Given the description of an element on the screen output the (x, y) to click on. 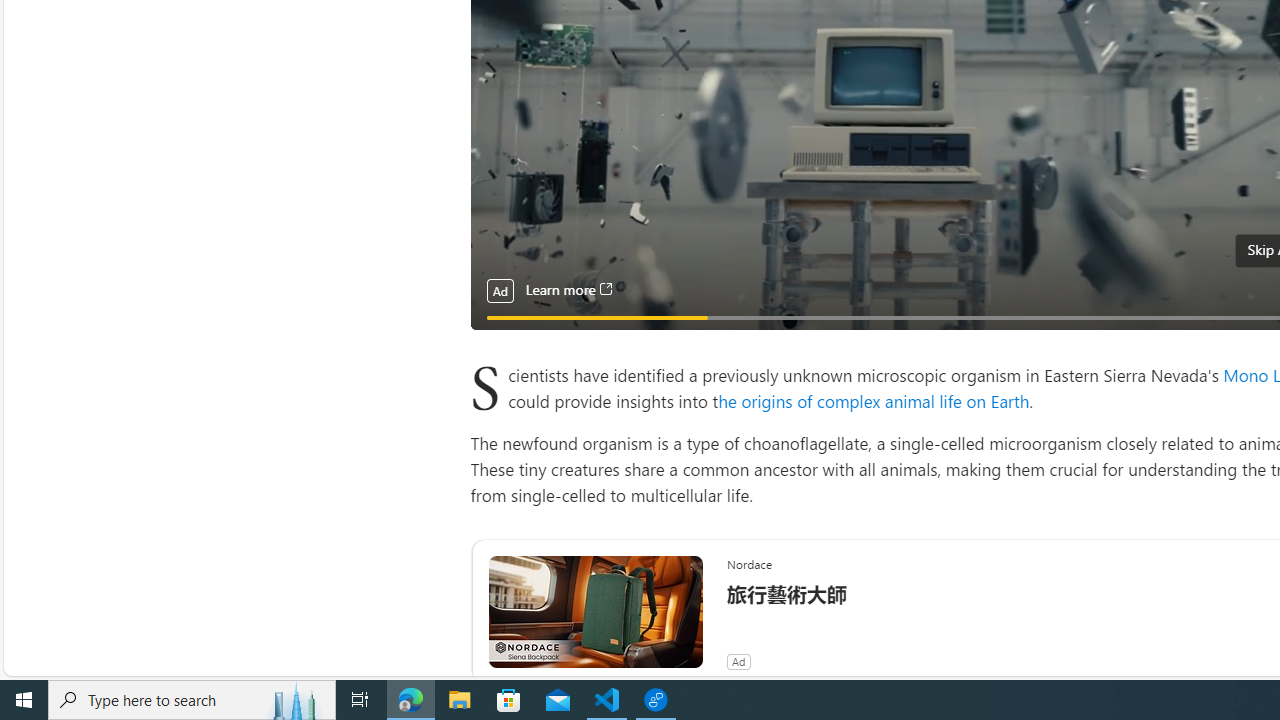
Pause (498, 340)
Ad (738, 661)
he origins of complex animal life on Earth (874, 399)
Learn more (567, 290)
